Given the description of an element on the screen output the (x, y) to click on. 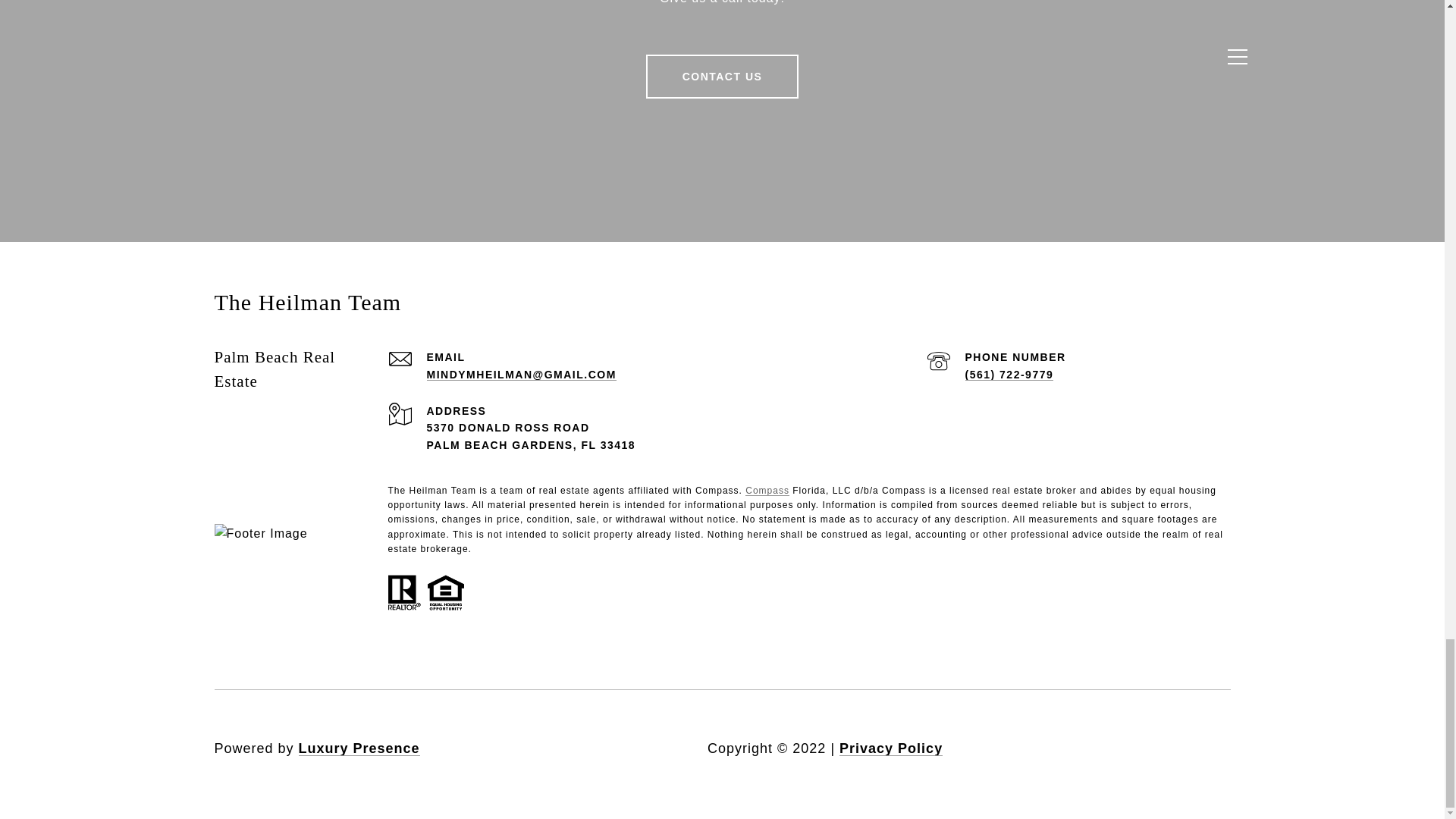
CONTACT US (722, 76)
